Given the description of an element on the screen output the (x, y) to click on. 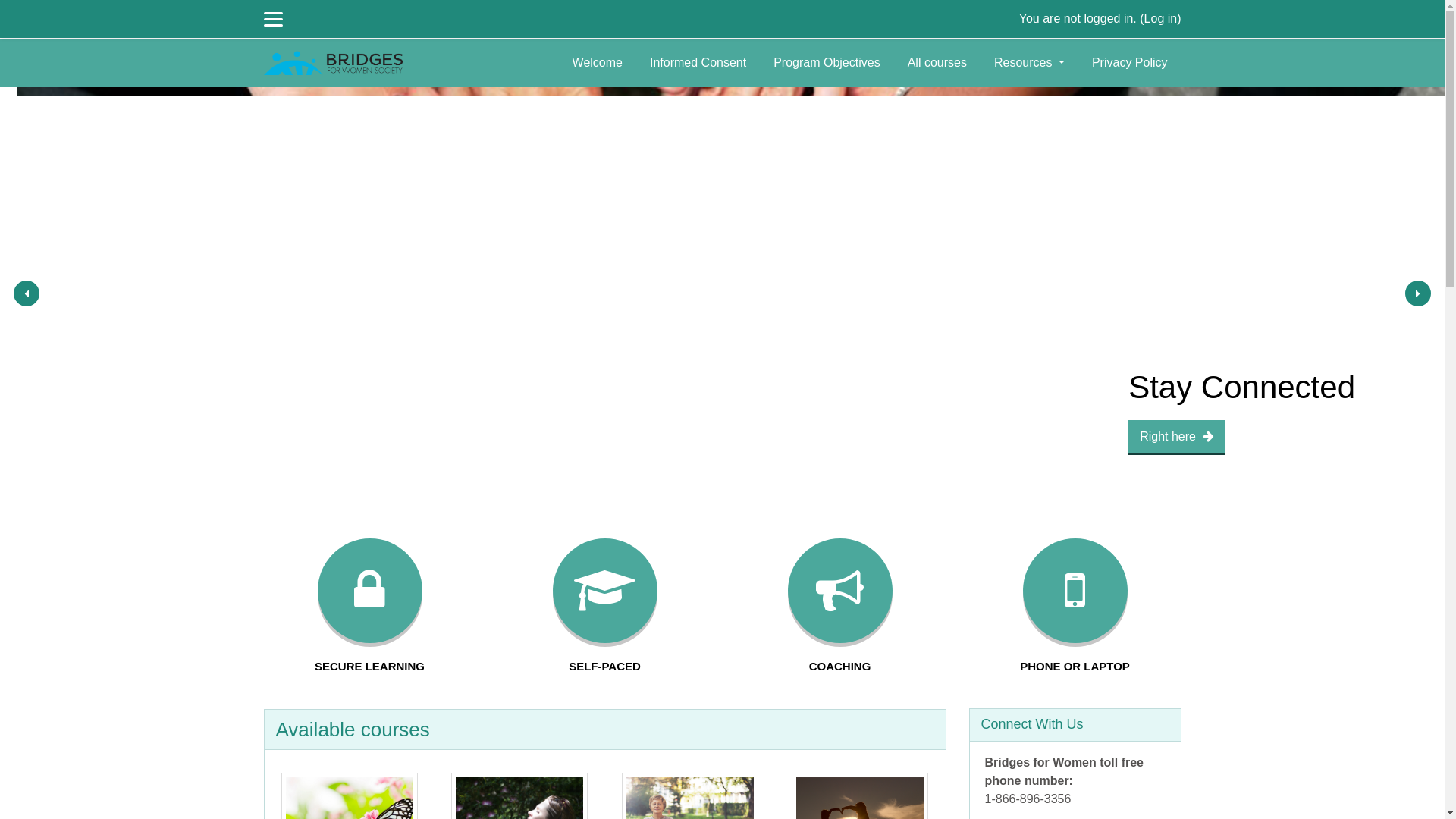
Log in Element type: text (1160, 18)
Privacy Policy Element type: text (1129, 62)
Right here Element type: text (1176, 437)
Skip Connect with Us Element type: text (967, 707)
Welcome Element type: text (597, 62)
Resources Element type: text (1029, 62)
Informed Consent Element type: text (697, 62)
All courses Element type: text (937, 62)
Program Objectives Element type: text (826, 62)
